Given the description of an element on the screen output the (x, y) to click on. 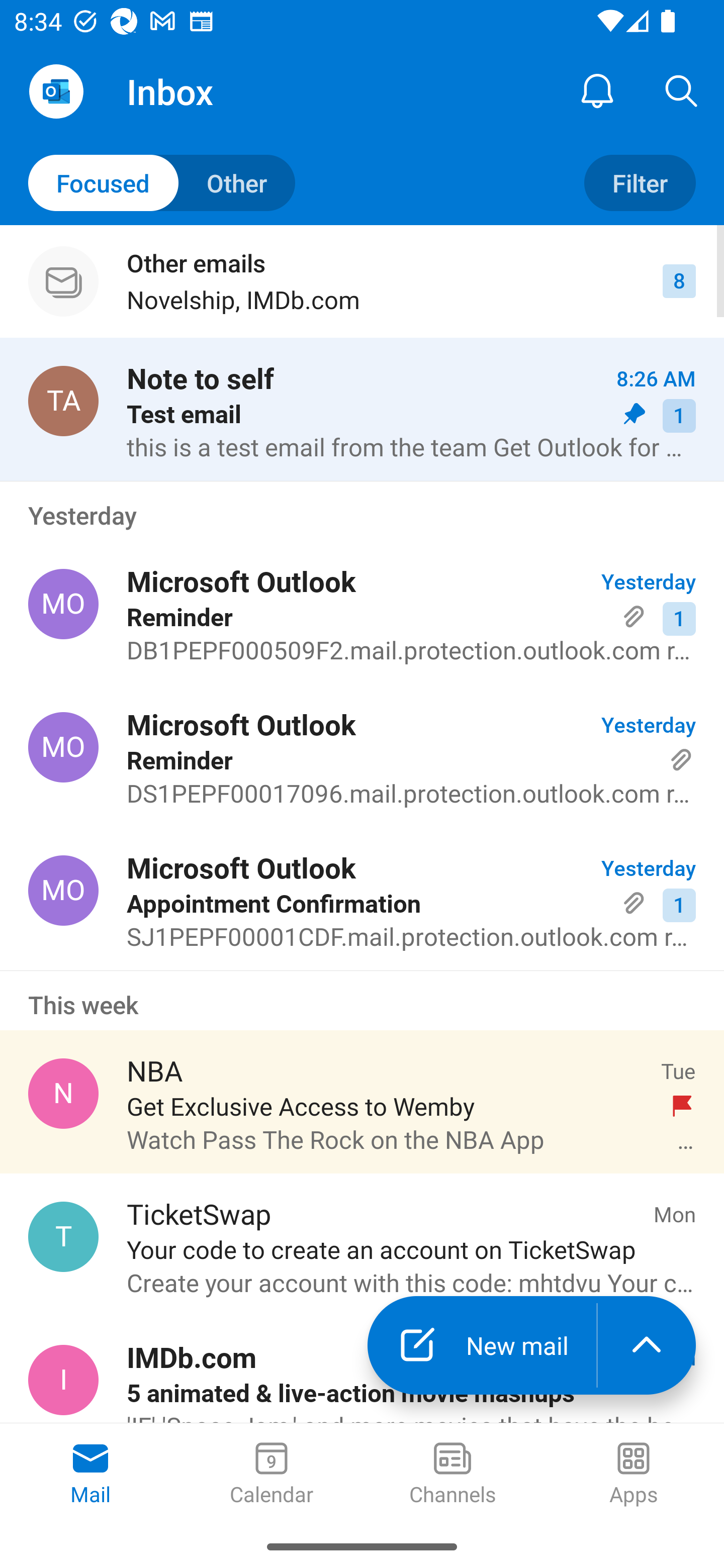
Notification Center (597, 90)
Search, ,  (681, 90)
Open Navigation Drawer (55, 91)
Toggle to other mails (161, 183)
Filter (639, 183)
Other emails Novelship, IMDb.com 8 (362, 281)
Test Appium, testappium002@outlook.com (63, 400)
NBA, NBA@email.nba.com (63, 1093)
TicketSwap, info@ticketswap.com (63, 1236)
New mail (481, 1344)
launch the extended action menu (646, 1344)
IMDb.com, do-not-reply@imdb.com (63, 1380)
Calendar (271, 1474)
Channels (452, 1474)
Apps (633, 1474)
